Given the description of an element on the screen output the (x, y) to click on. 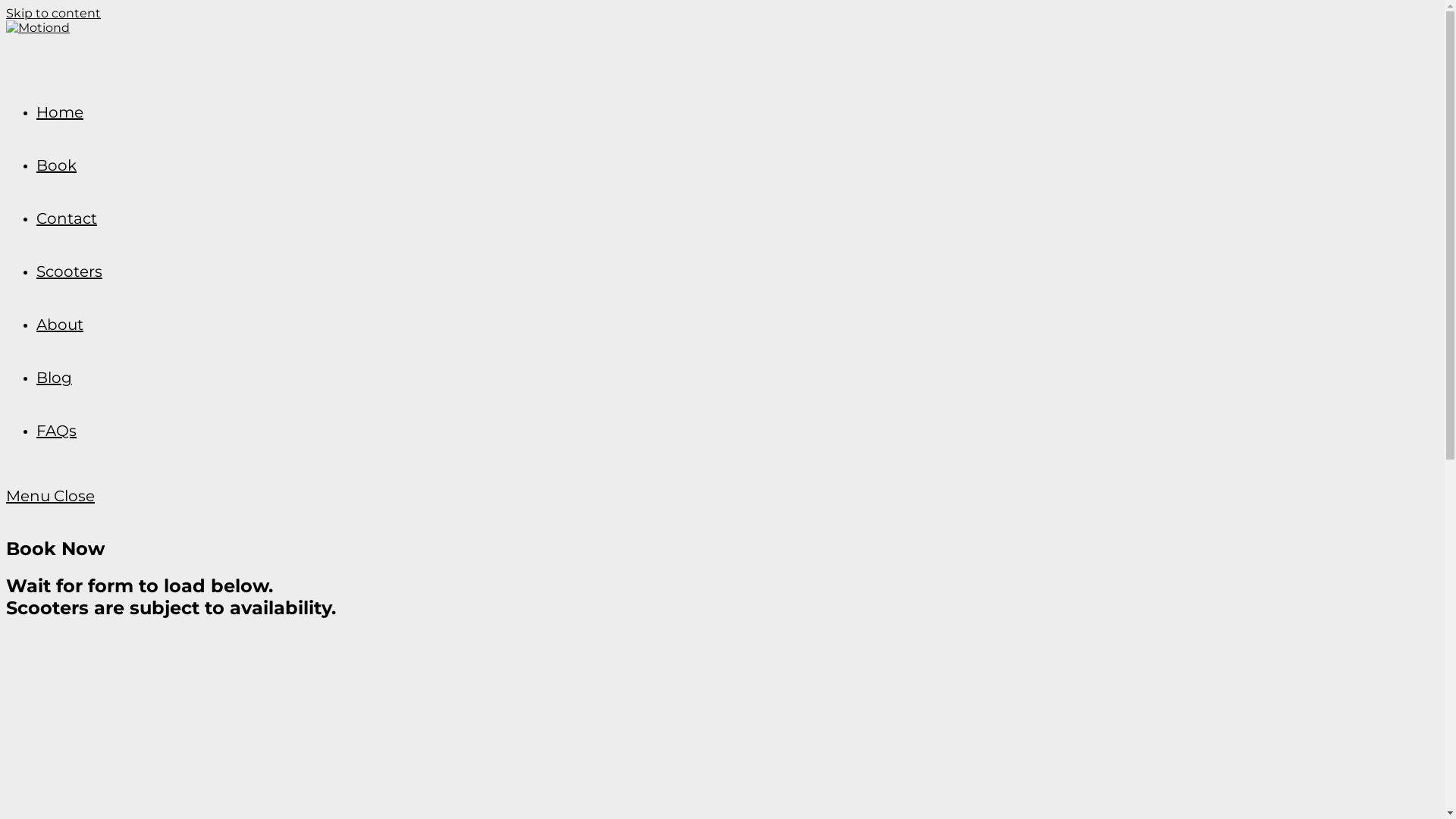
Home Element type: text (59, 112)
Scooters Element type: text (69, 271)
About Element type: text (59, 324)
Contact Element type: text (66, 218)
Book Element type: text (56, 165)
Skip to content Element type: text (53, 13)
Menu Close Element type: text (50, 495)
Blog Element type: text (54, 377)
FAQs Element type: text (56, 430)
